Given the description of an element on the screen output the (x, y) to click on. 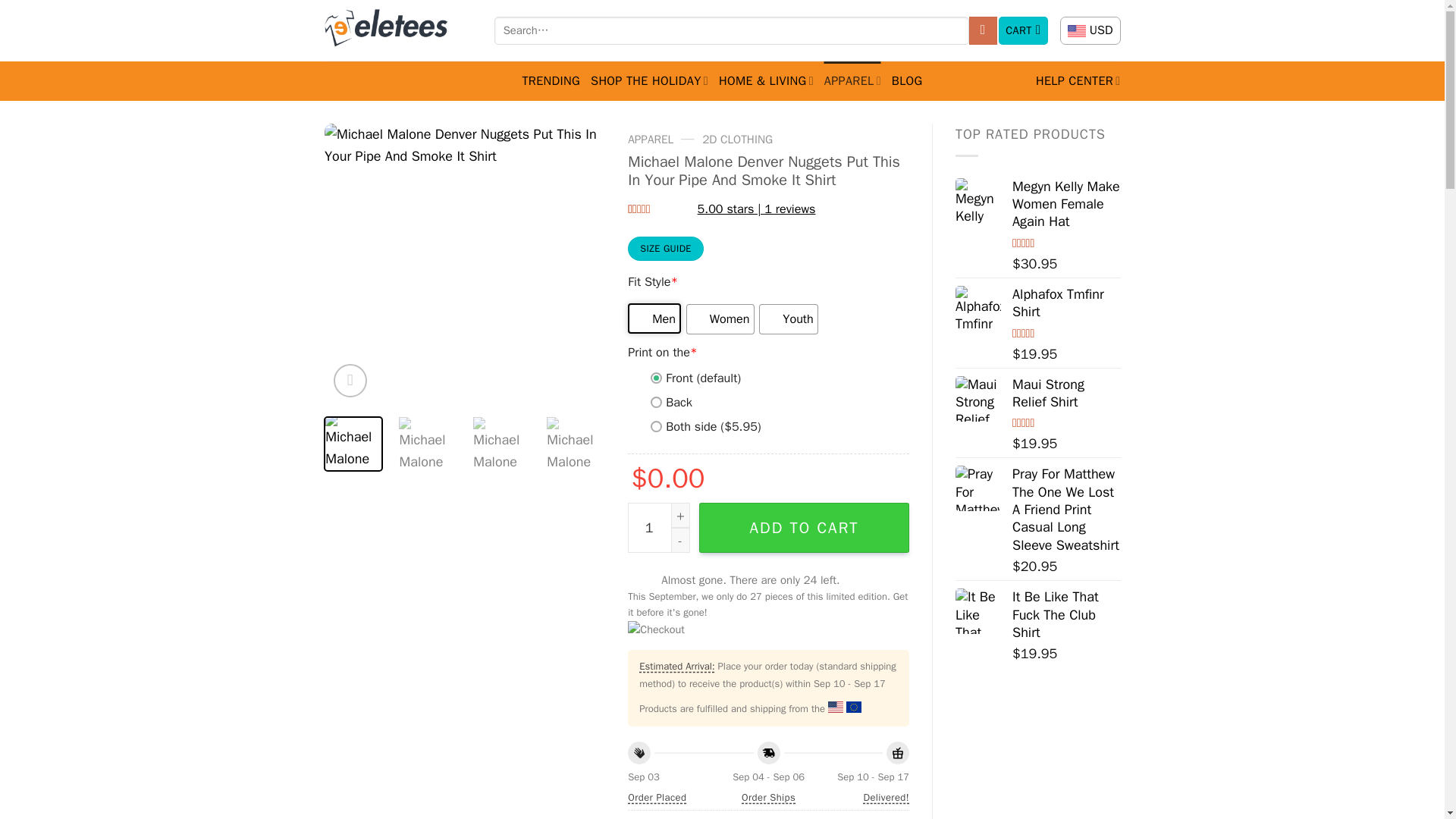
Eletees - Clothes that make a statement (397, 30)
Alphafox Tmfinr Shirt (978, 308)
Megyn Kelly Make Women Female Again Hat (978, 200)
TRENDING (550, 80)
Maui Strong Relief Shirt (978, 398)
It Be Like That Fuck The Club Shirt (978, 610)
CART (1023, 30)
